Given the description of an element on the screen output the (x, y) to click on. 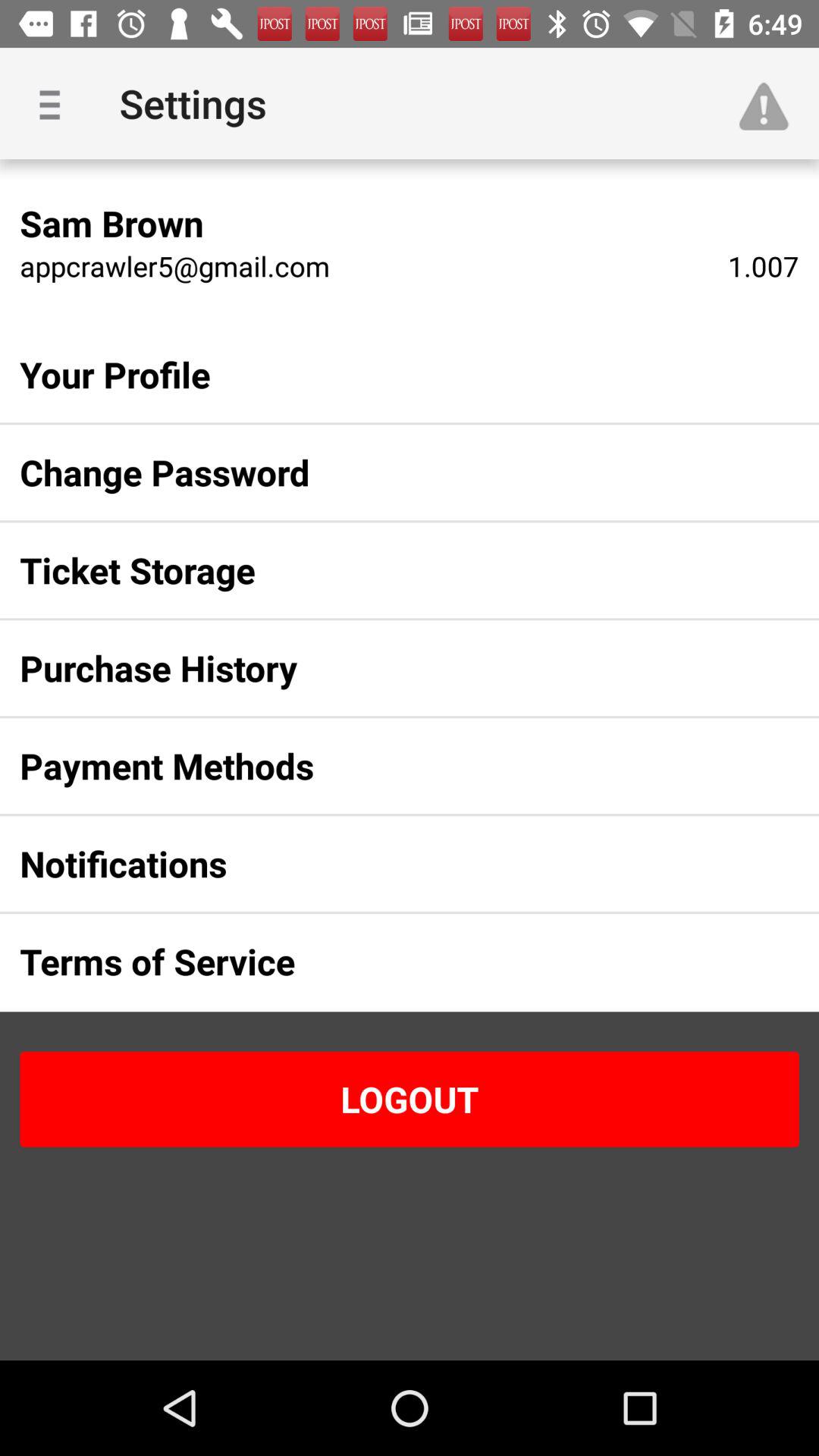
flip until terms of service (385, 961)
